Given the description of an element on the screen output the (x, y) to click on. 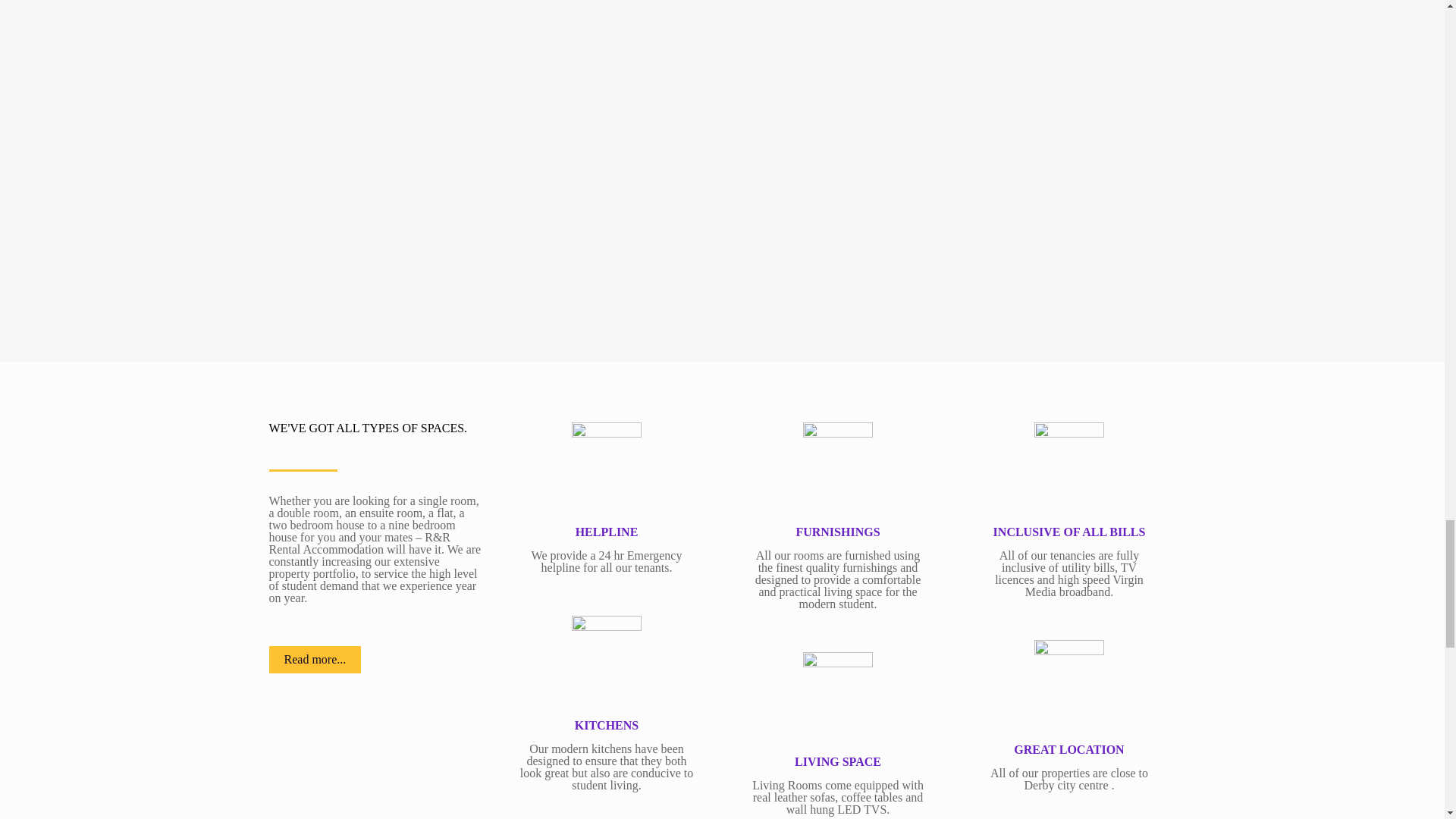
Read more... (314, 659)
